Given the description of an element on the screen output the (x, y) to click on. 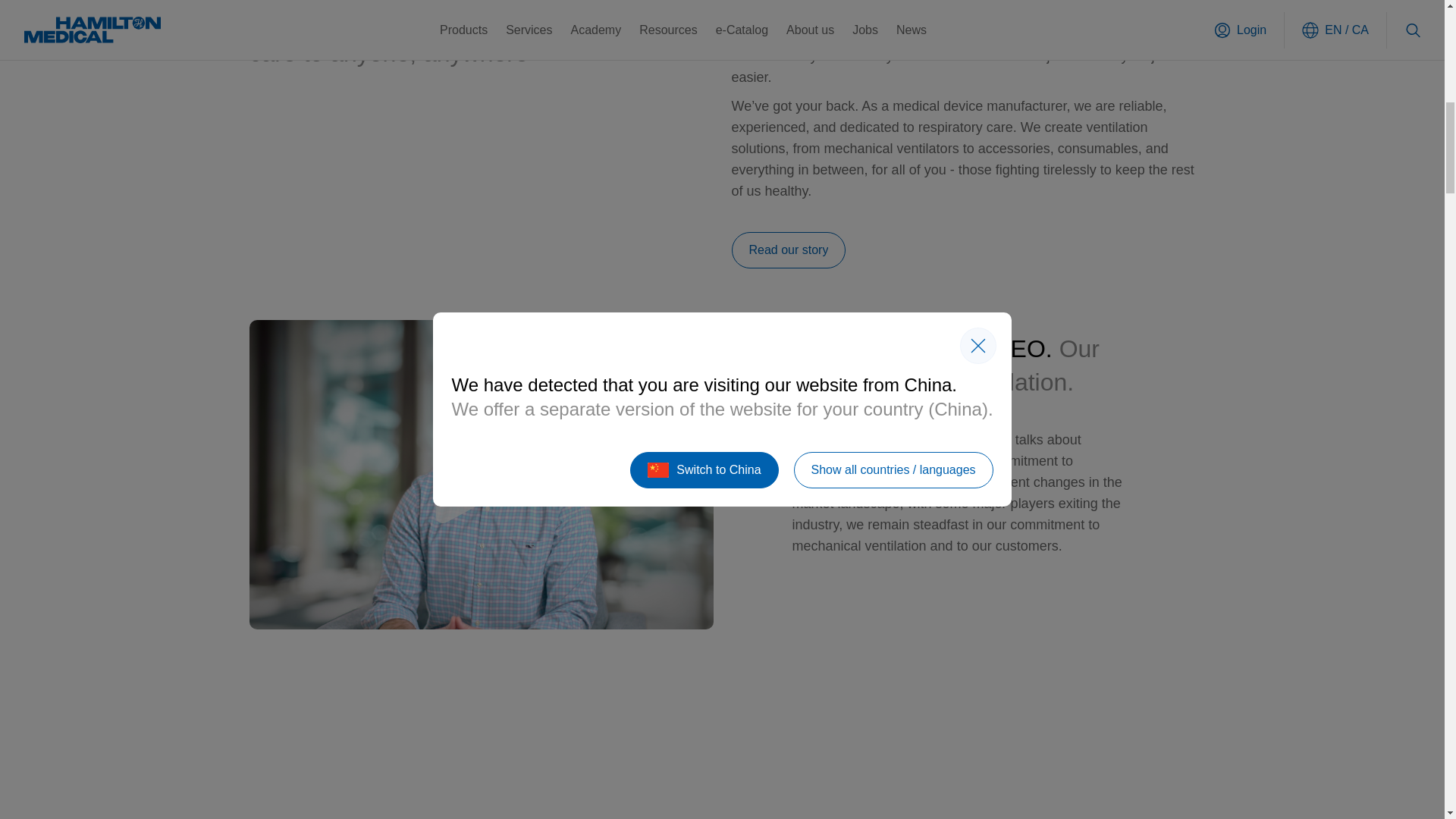
Read our story (787, 249)
